Given the description of an element on the screen output the (x, y) to click on. 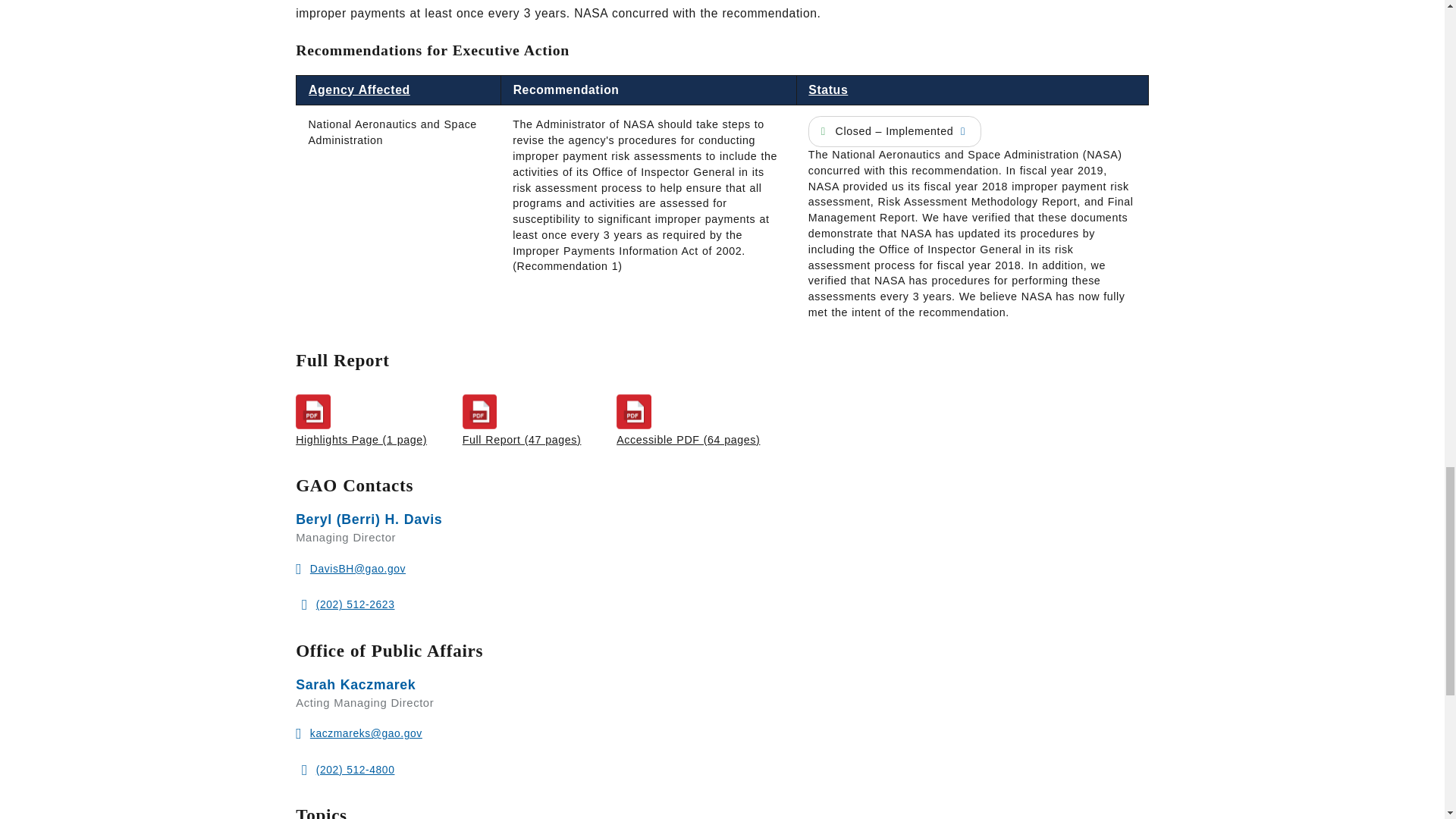
Status (827, 89)
sort by Status (827, 89)
sort by Agency Affected (359, 89)
Sarah Kaczmarek (354, 684)
Agency Affected (359, 89)
